Given the description of an element on the screen output the (x, y) to click on. 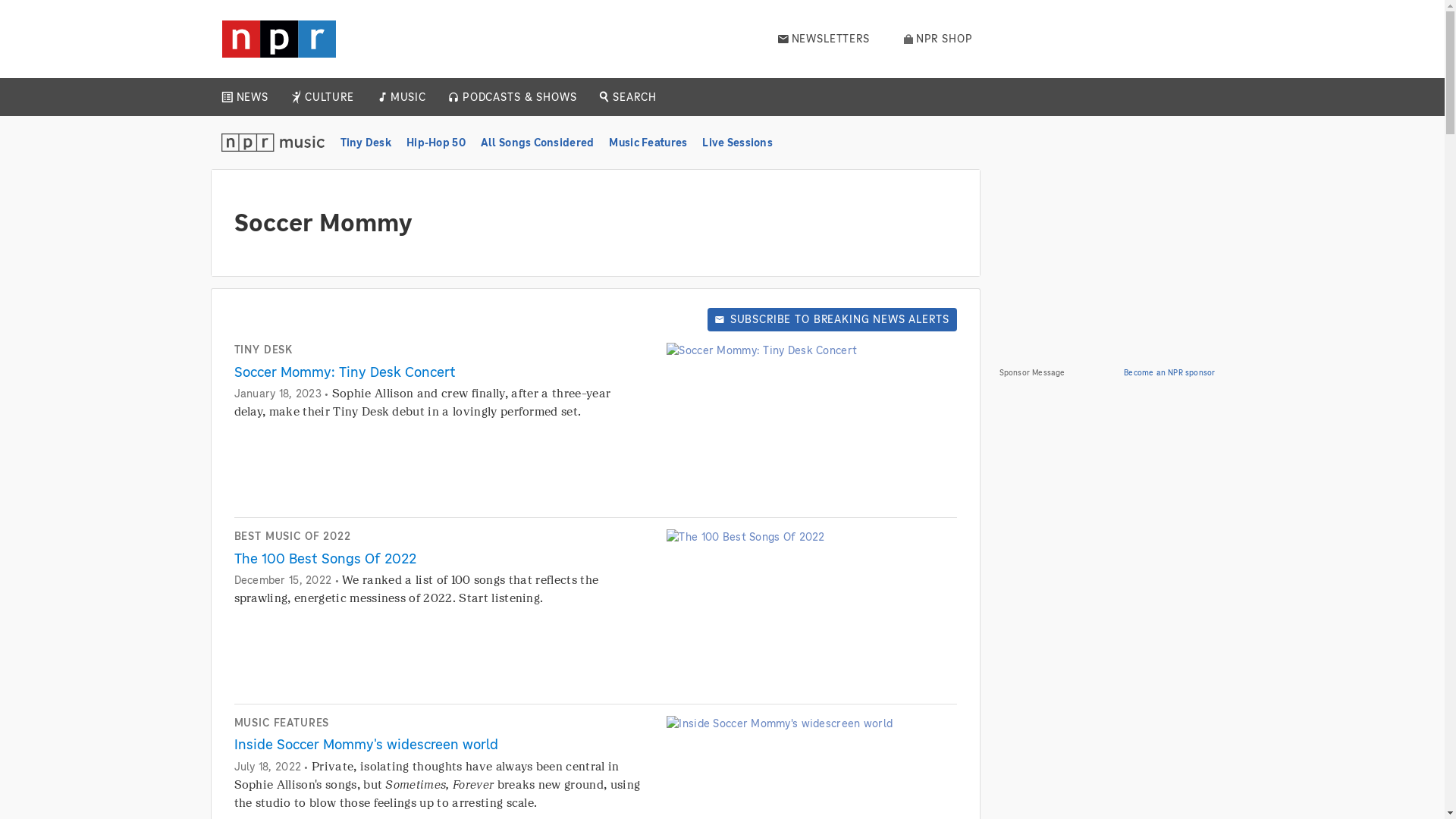
NEWSLETTERS (823, 38)
NPR SHOP (938, 38)
NEWS (251, 96)
MUSIC (407, 96)
CULTURE (328, 96)
